Given the description of an element on the screen output the (x, y) to click on. 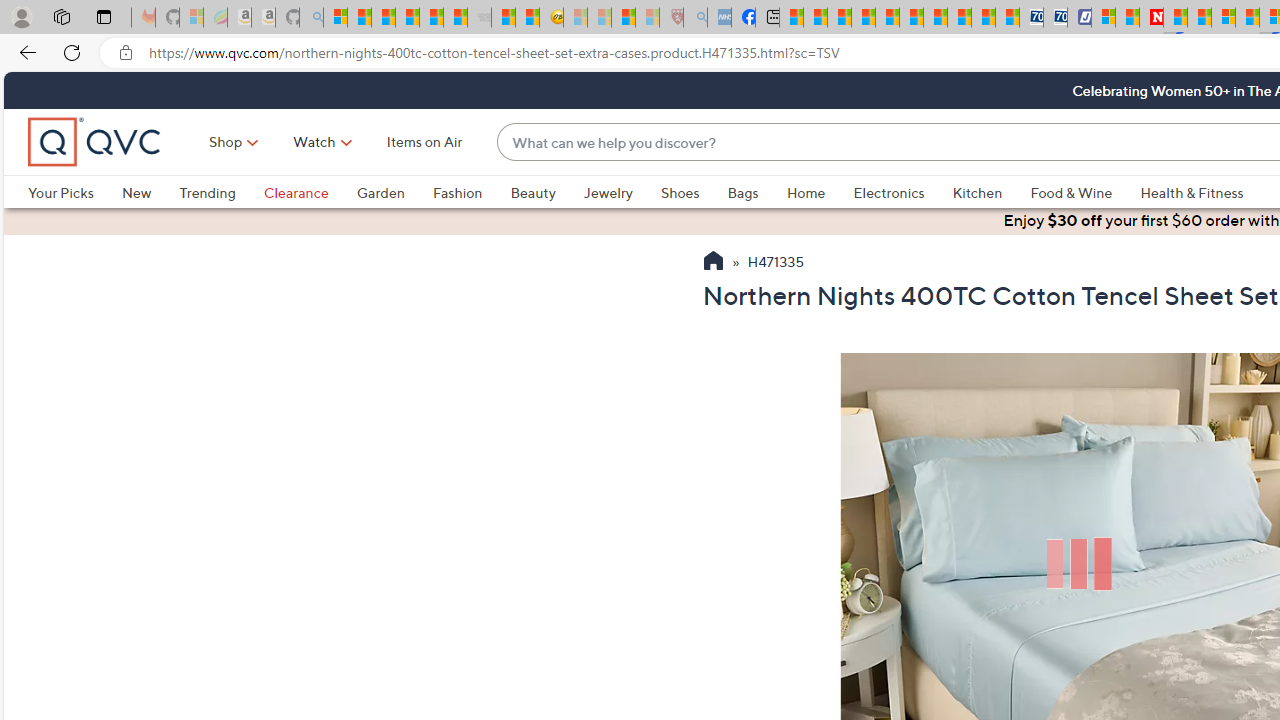
Clearance (295, 192)
Clearance (309, 192)
Combat Siege - Sleeping (479, 17)
QVC home (95, 141)
Garden (379, 192)
Shoes (694, 192)
Trending (207, 192)
Bags (743, 192)
Items on Air (424, 141)
